Given the description of an element on the screen output the (x, y) to click on. 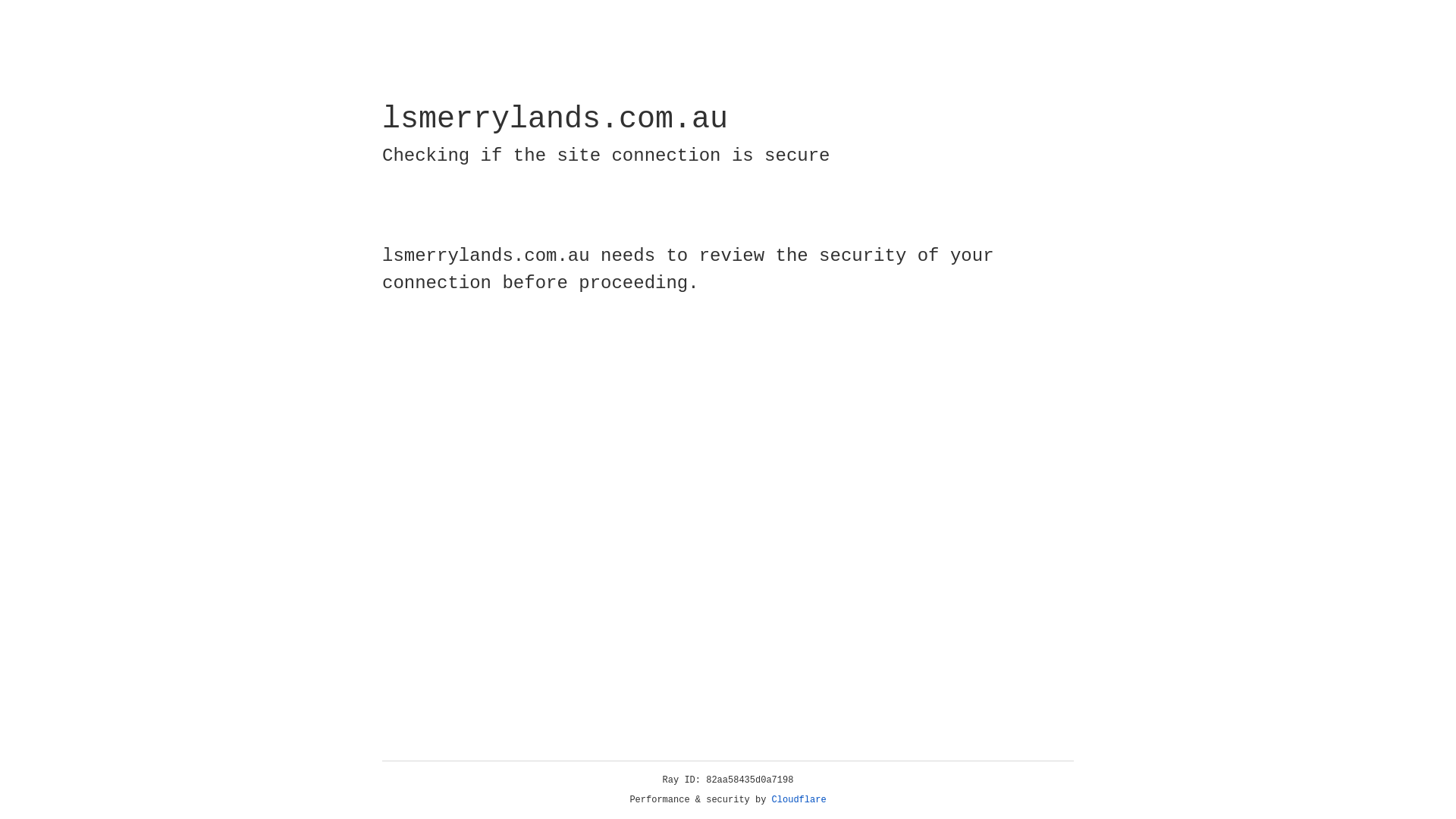
Cloudflare Element type: text (798, 799)
